Given the description of an element on the screen output the (x, y) to click on. 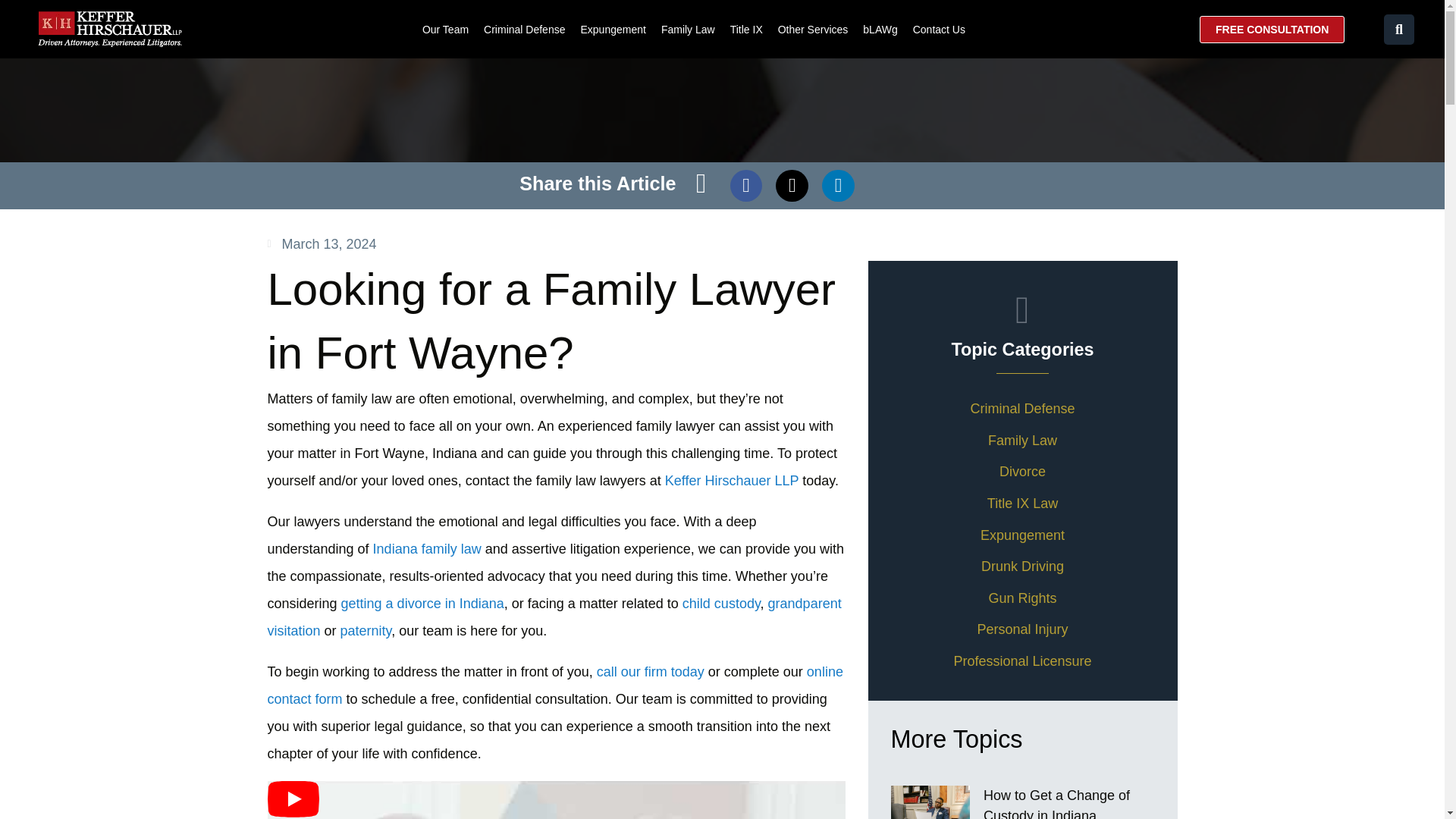
Title IX (746, 29)
Other Services (812, 29)
Family Law (687, 29)
Expungement (612, 29)
FREE CONSULTATION (1271, 29)
bLAWg (879, 29)
Contact Us (938, 29)
Our Team (445, 29)
Criminal Defense (523, 29)
